Given the description of an element on the screen output the (x, y) to click on. 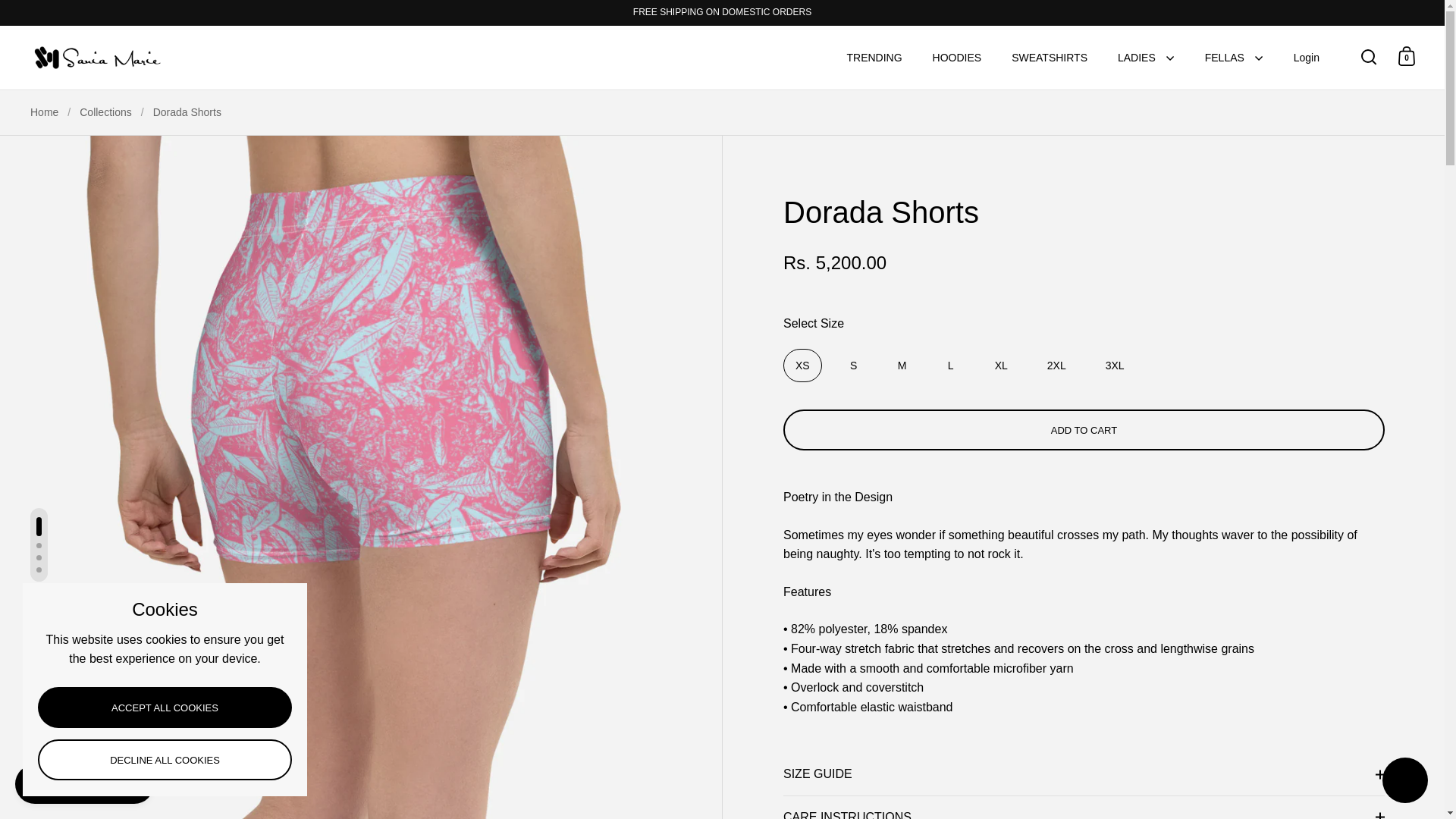
SWEATSHIRTS (1048, 57)
TRENDING (874, 57)
FELLAS (1233, 57)
HOODIES (957, 57)
LADIES (1145, 57)
Login (1306, 57)
Home (44, 111)
Open cart (1406, 55)
Open search (1369, 55)
